Given the description of an element on the screen output the (x, y) to click on. 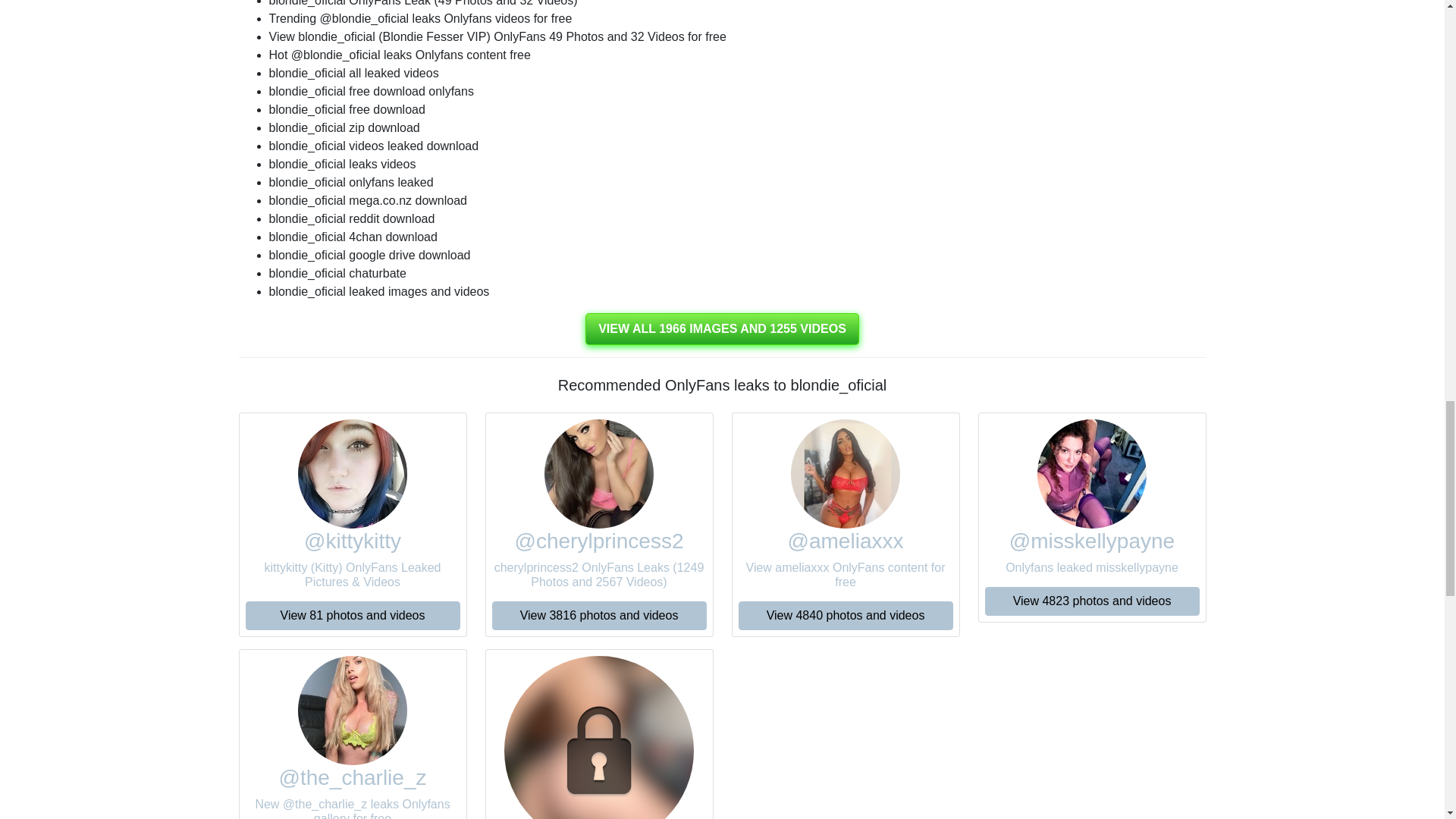
VIEW ALL 1966 IMAGES AND 1255 VIDEOS (722, 328)
